Given the description of an element on the screen output the (x, y) to click on. 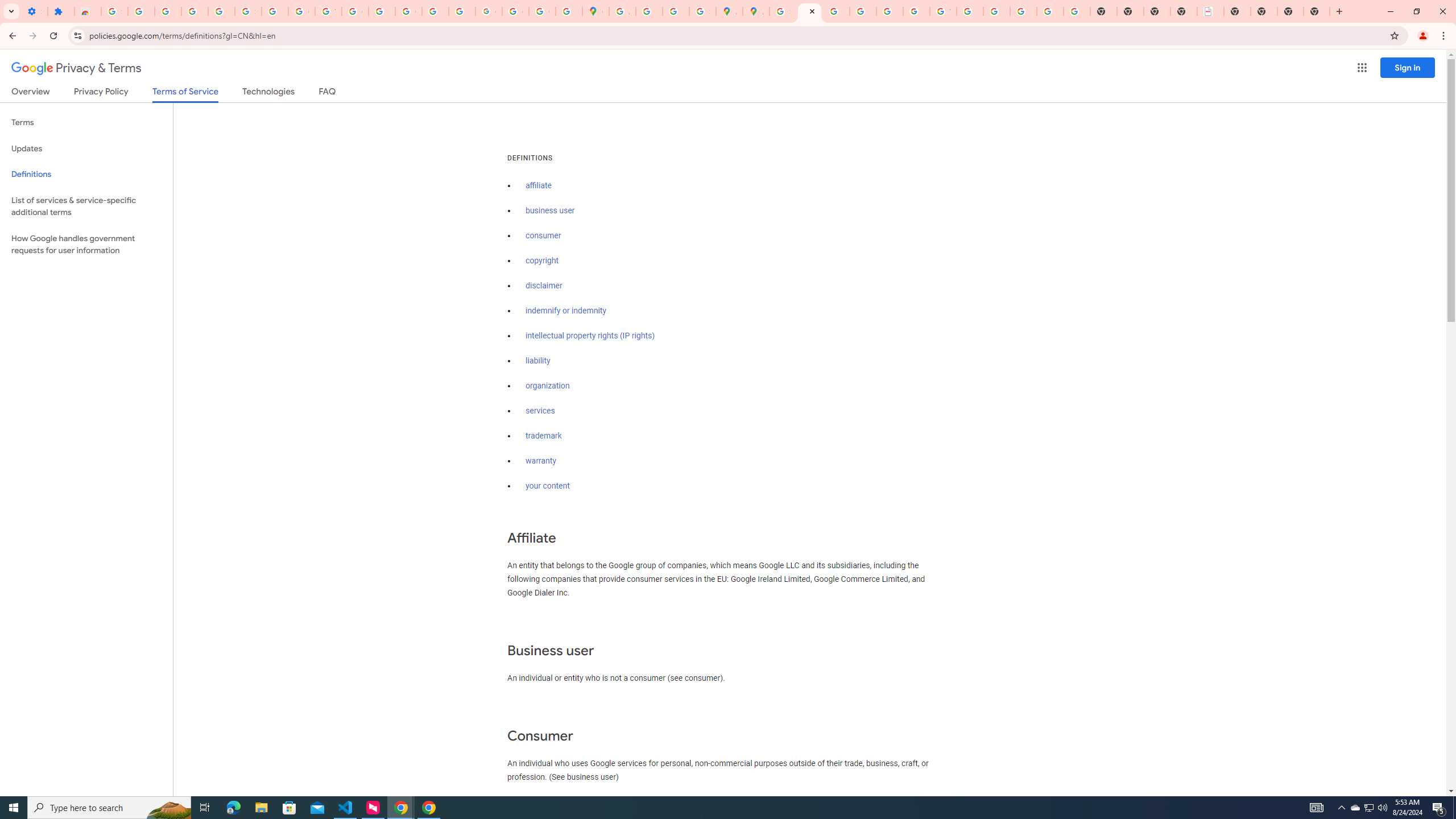
Safety in Our Products - Google Safety Center (702, 11)
trademark (543, 435)
LAAD Defence & Security 2025 | BAE Systems (1210, 11)
New Tab (1290, 11)
Privacy Help Center - Policies Help (836, 11)
Google Account (301, 11)
